Given the description of an element on the screen output the (x, y) to click on. 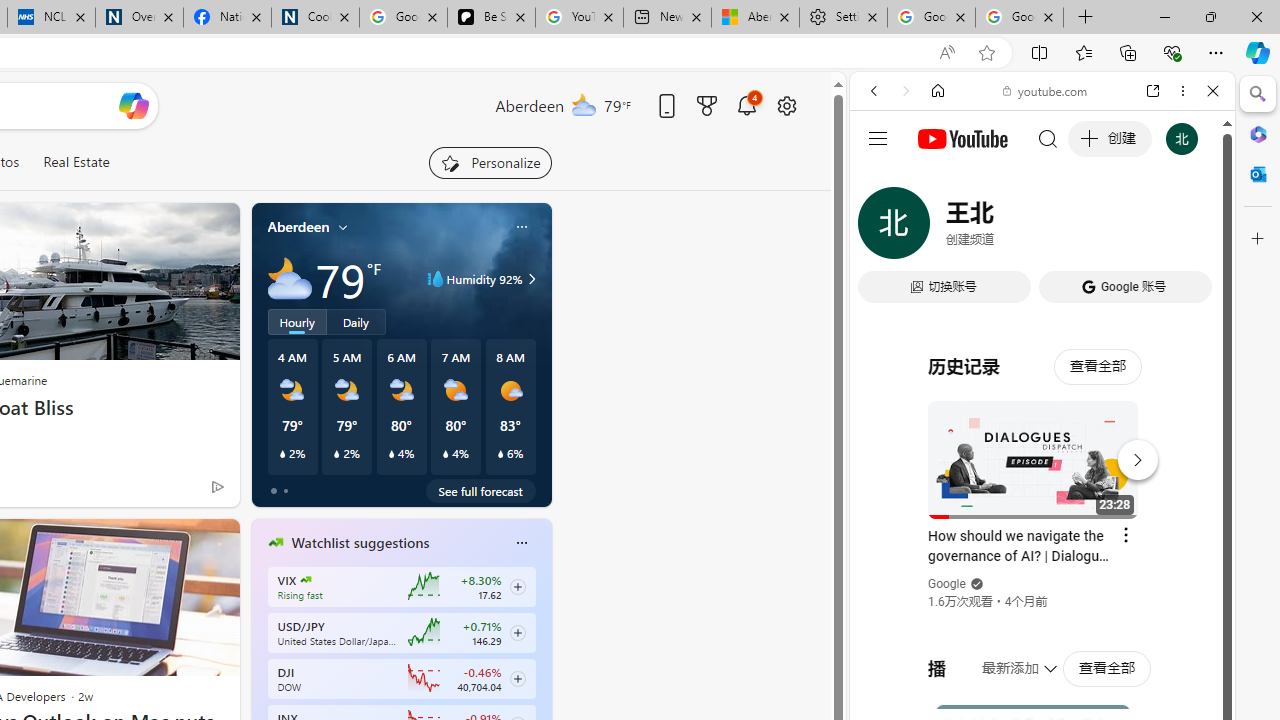
Class: b_serphb (1190, 229)
Google (947, 584)
Humidity 92% (529, 278)
Search Filter, Search Tools (1093, 228)
Music (1042, 543)
tab-1 (285, 490)
Watchlist suggestions (360, 543)
Search Filter, IMAGES (939, 228)
